Given the description of an element on the screen output the (x, y) to click on. 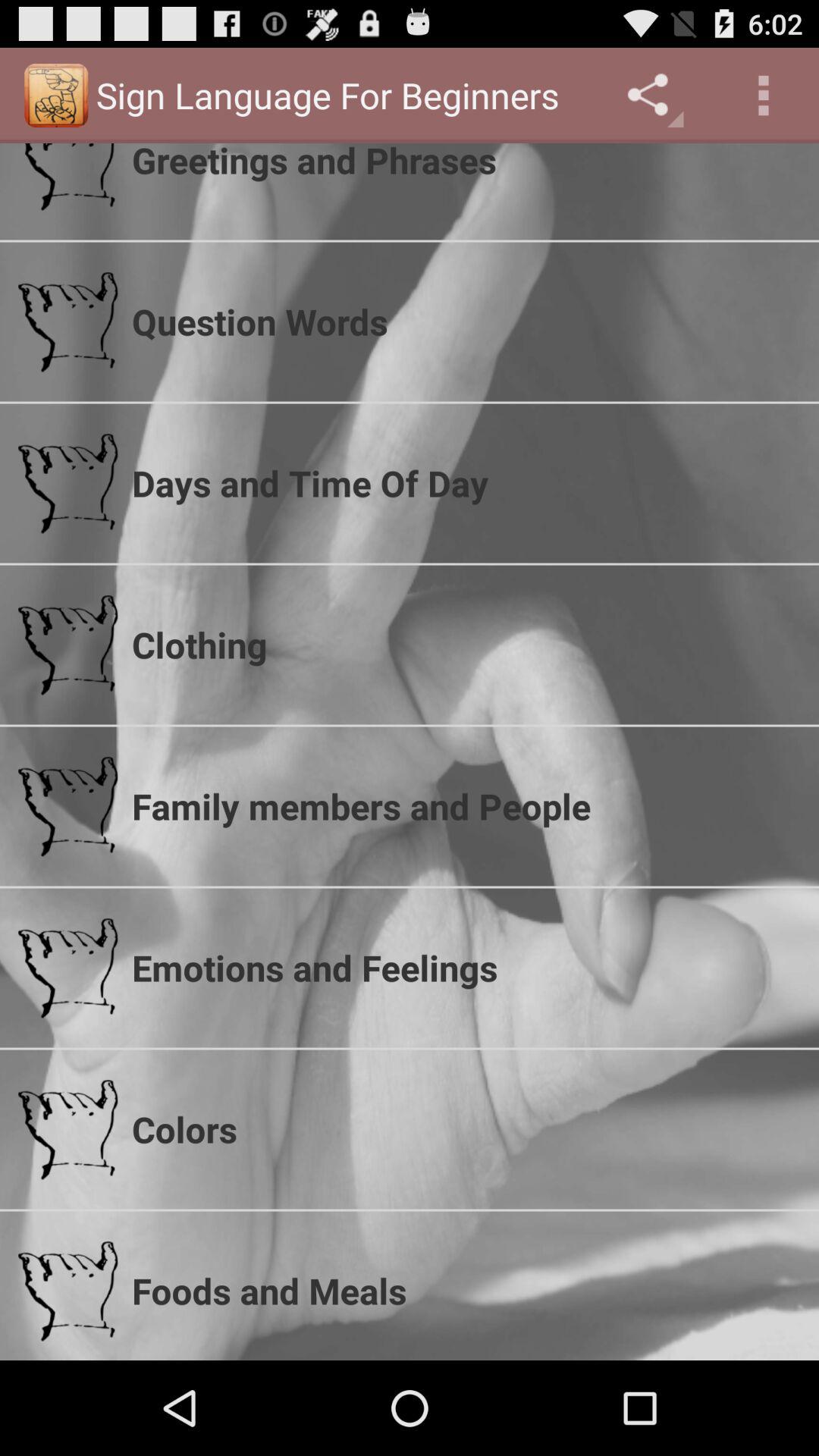
choose the icon below the emotions and feelings (465, 1129)
